Given the description of an element on the screen output the (x, y) to click on. 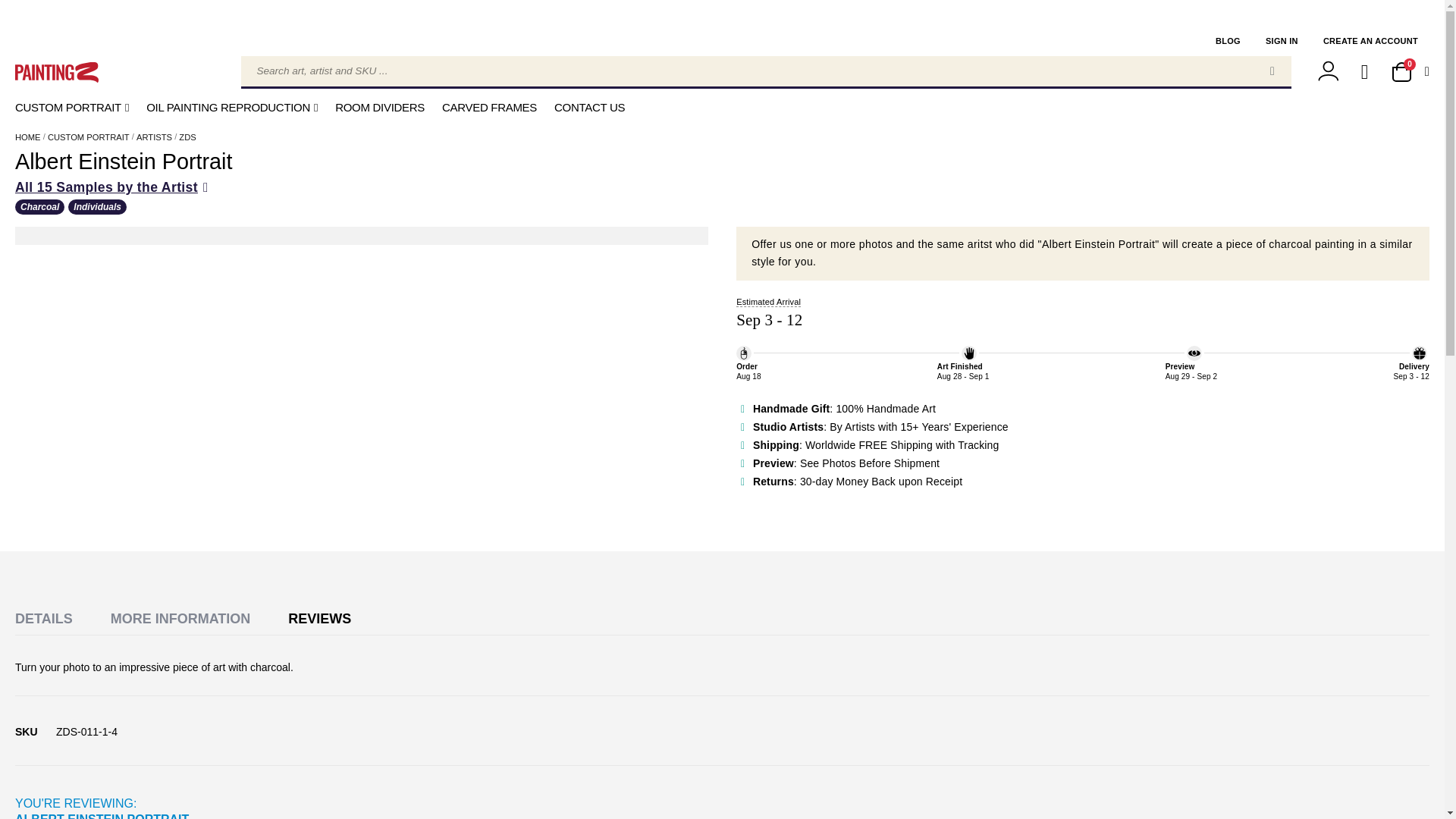
Custom Portrait (88, 136)
CUSTOM PORTRAIT (71, 107)
COUPONS TODAY (722, 12)
ZDS (187, 136)
My Account (1328, 72)
Go to Home Page (27, 136)
Contact Us (589, 107)
OIL PAINTING REPRODUCTION (232, 107)
Custom Portrait (71, 107)
Wishlist (1365, 72)
